Given the description of an element on the screen output the (x, y) to click on. 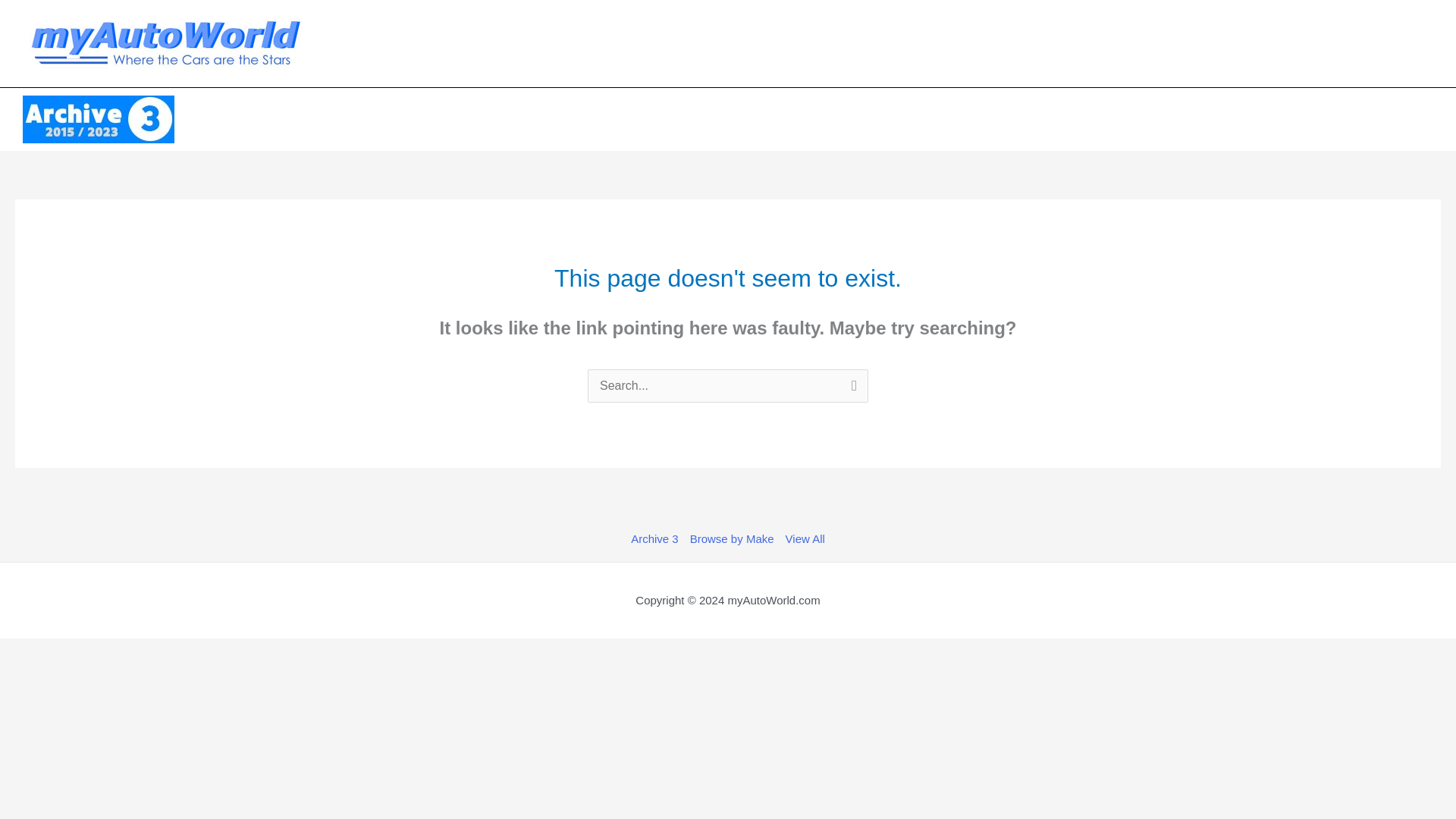
View All (801, 538)
Archive 3 (657, 538)
Browse by Make (731, 538)
myAutoWorld.com (772, 599)
